Given the description of an element on the screen output the (x, y) to click on. 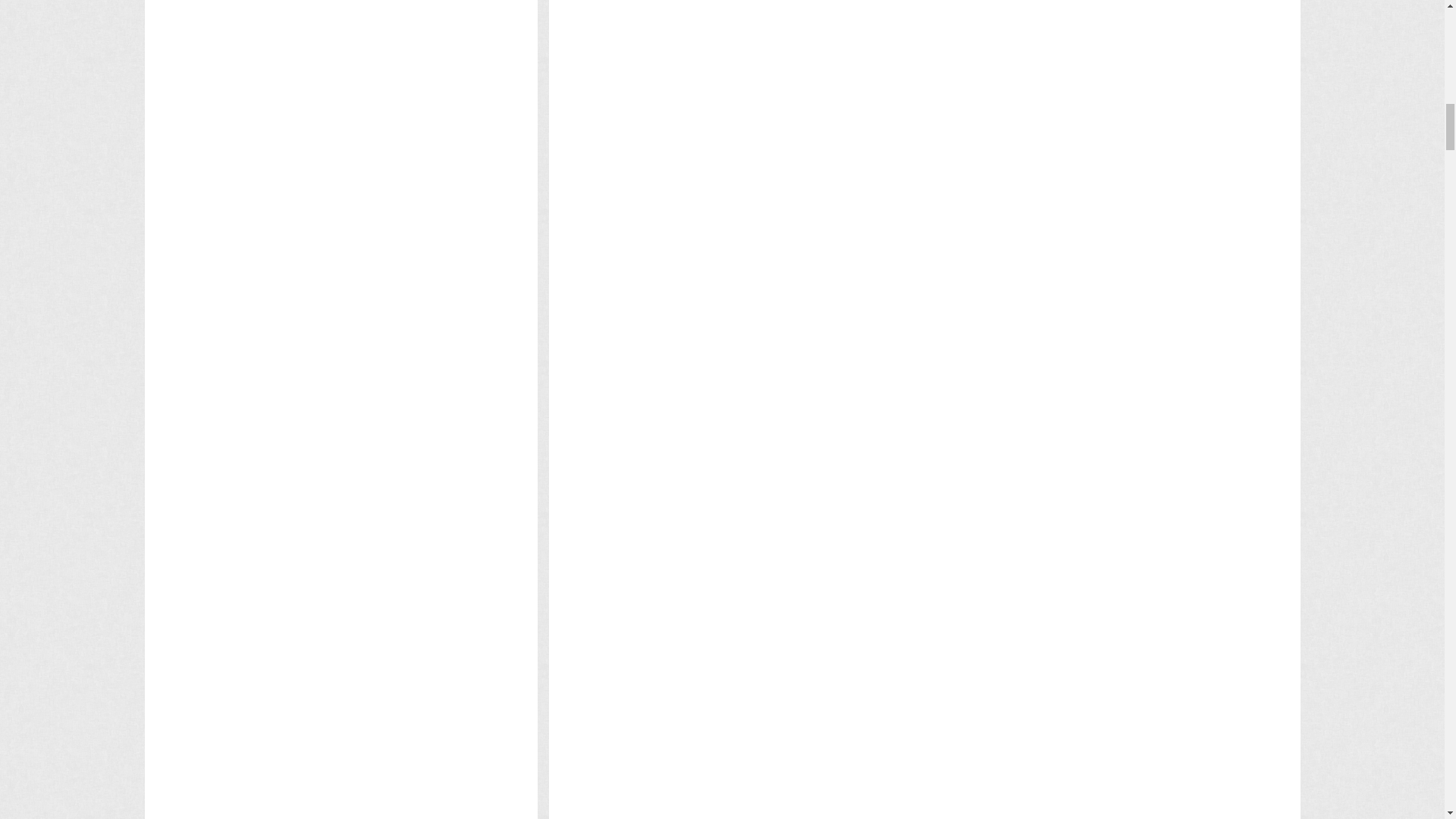
Advertisement (848, 279)
Advertisement (848, 205)
Advertisement (848, 8)
Advertisement (848, 131)
Advertisement (848, 447)
Advertisement (848, 56)
Advertisement (848, 354)
